Given the description of an element on the screen output the (x, y) to click on. 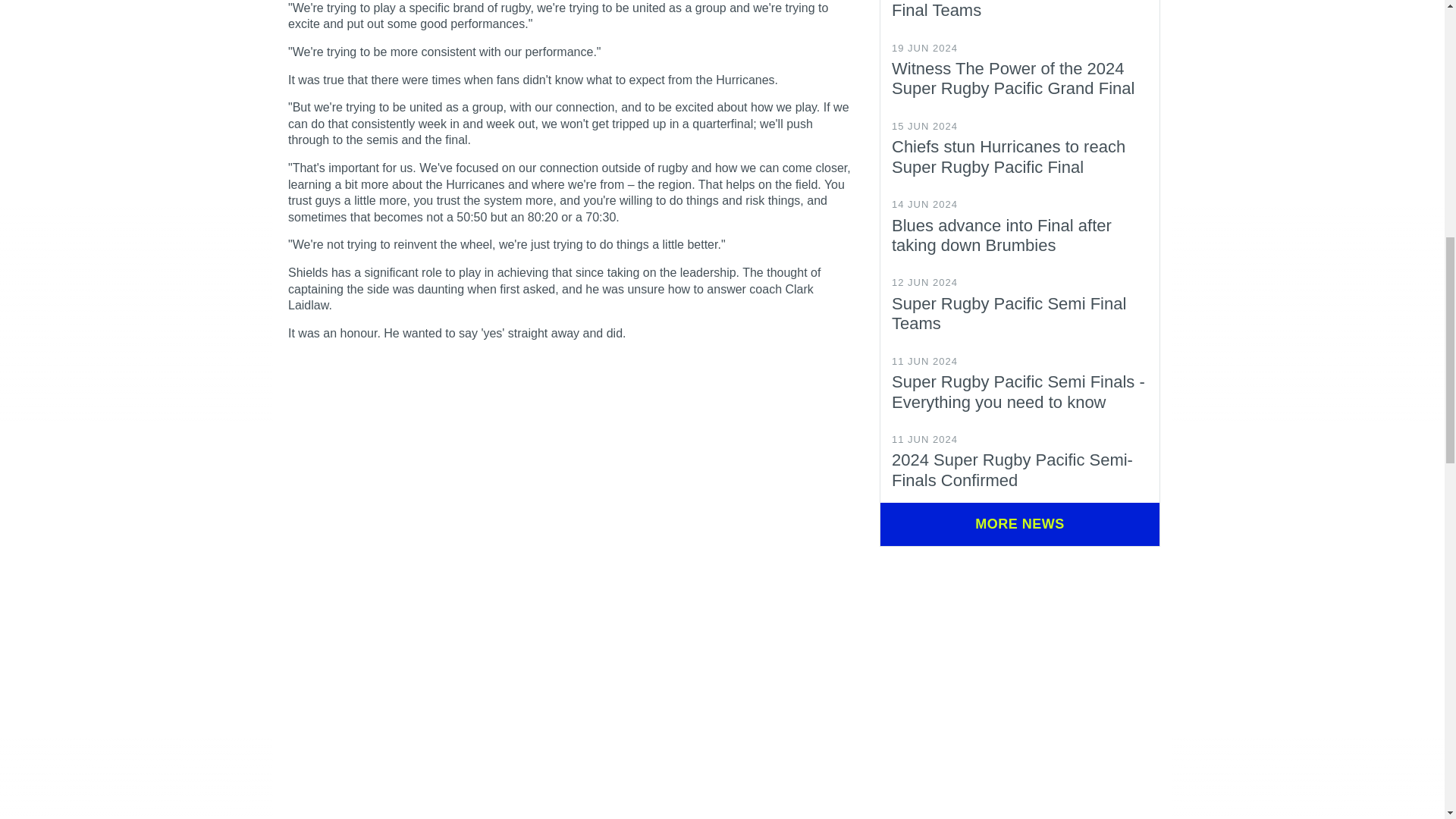
Blues advance into Final after taking down Brumbies (1001, 235)
2024 Super Rugby Pacific Semi-Finals Confirmed (1011, 469)
Chiefs stun Hurricanes to reach Super Rugby Pacific Final (1008, 156)
2024 Super Rugby Pacific Grand Final Teams (1013, 9)
Super Rugby Pacific Semi Final Teams (1008, 313)
MORE NEWS (1019, 524)
